Given the description of an element on the screen output the (x, y) to click on. 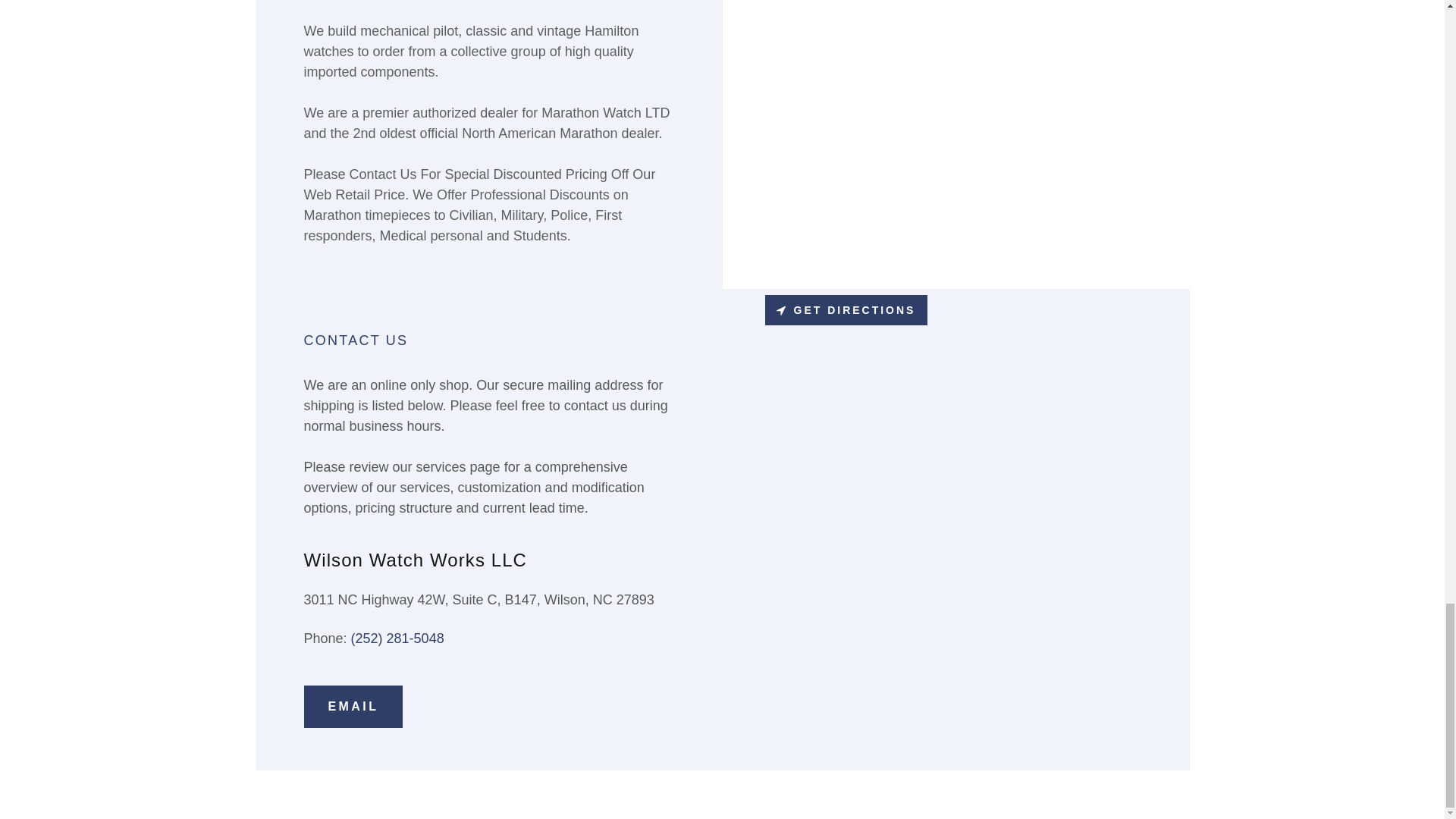
GET DIRECTIONS (845, 309)
EMAIL (352, 706)
